Given the description of an element on the screen output the (x, y) to click on. 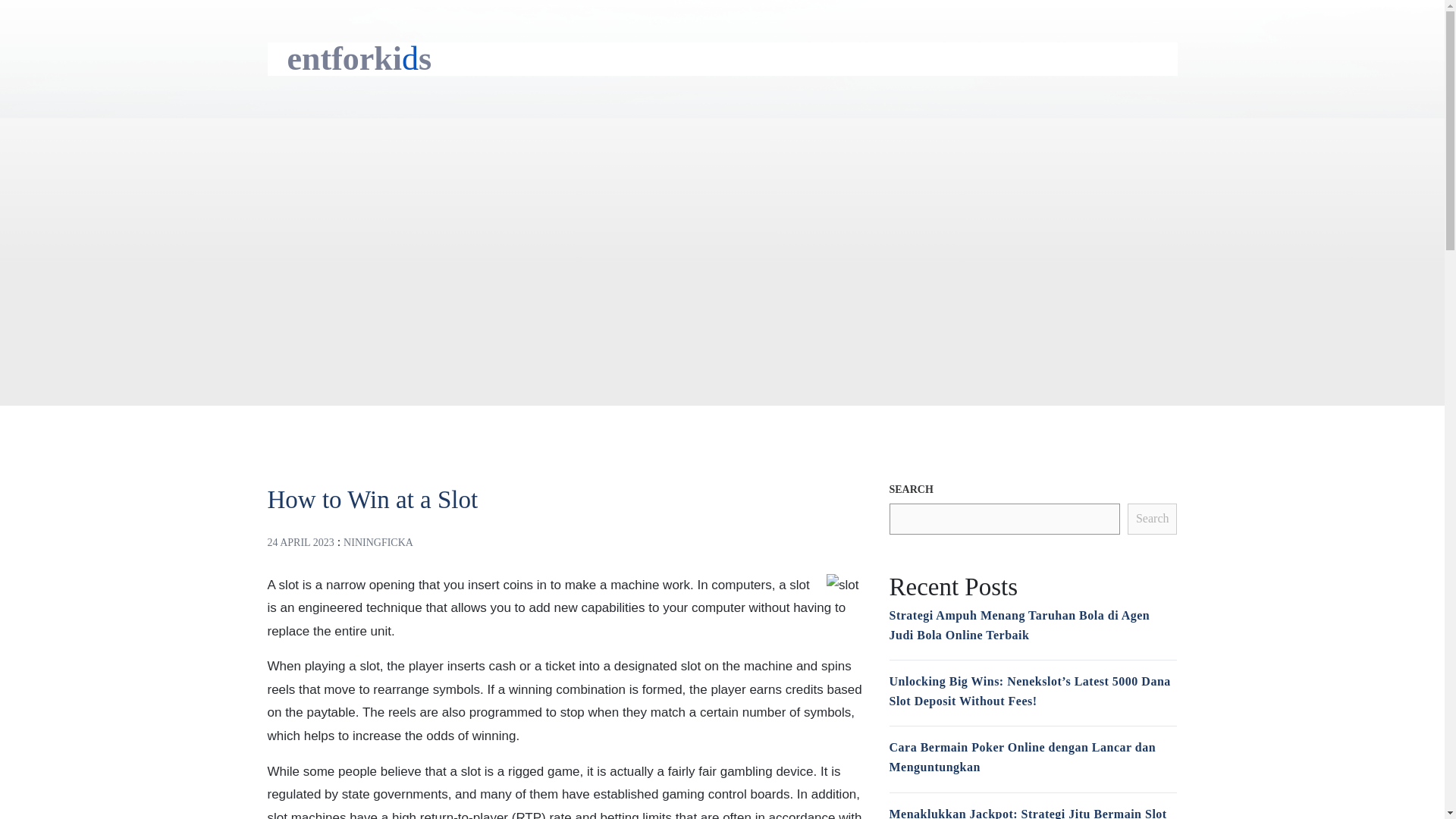
24 APRIL 2023 (299, 542)
Search (1151, 518)
Cara Bermain Poker Online dengan Lancar dan Menguntungkan (1022, 757)
NININGFICKA (378, 542)
entforkids (358, 58)
